Given the description of an element on the screen output the (x, y) to click on. 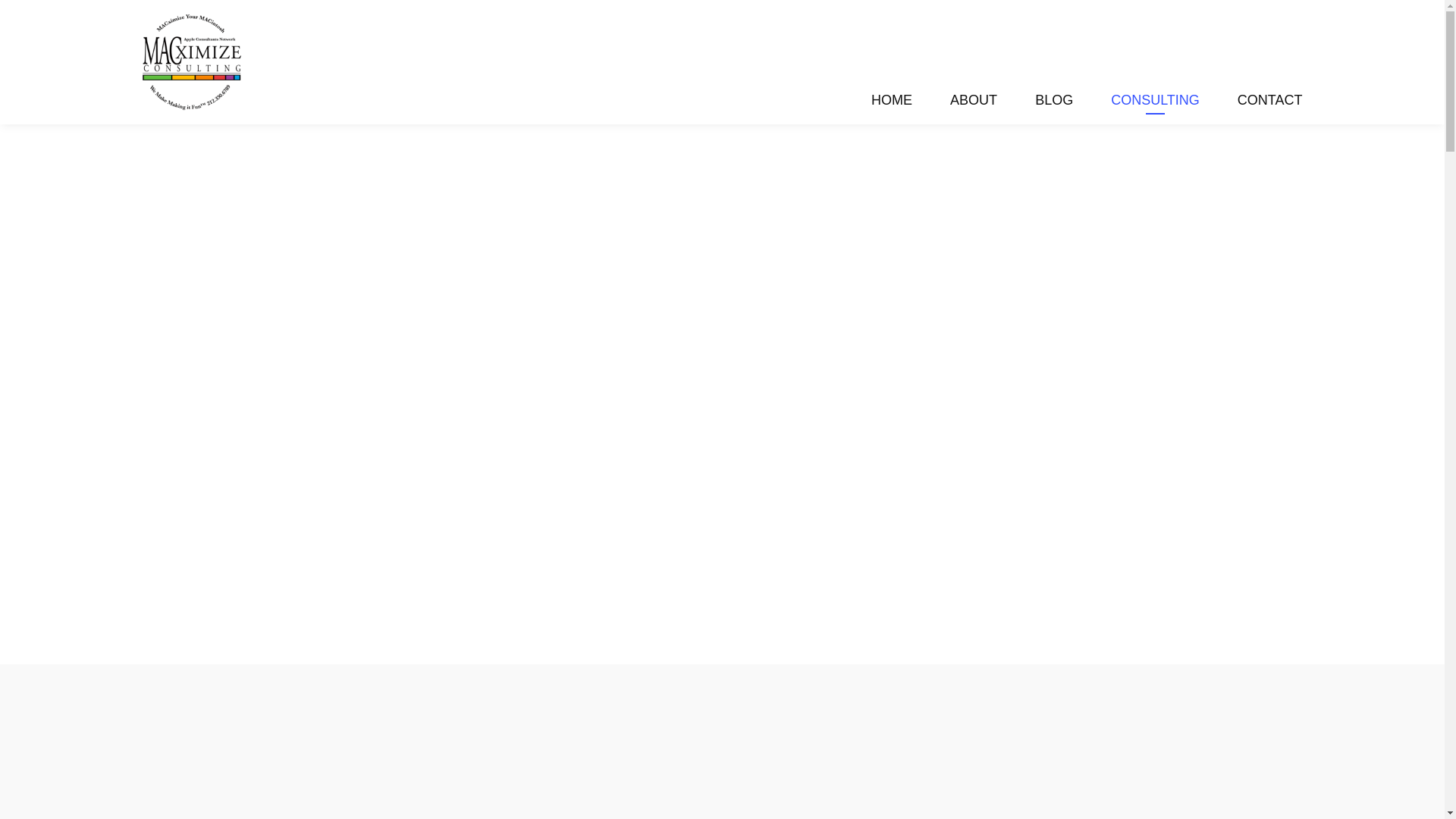
BLOG (1053, 102)
CONSULTING (1155, 102)
CONTACT (1269, 102)
ABOUT (974, 102)
MACx Rainbow Logo transparent (191, 61)
HOME (891, 102)
